Given the description of an element on the screen output the (x, y) to click on. 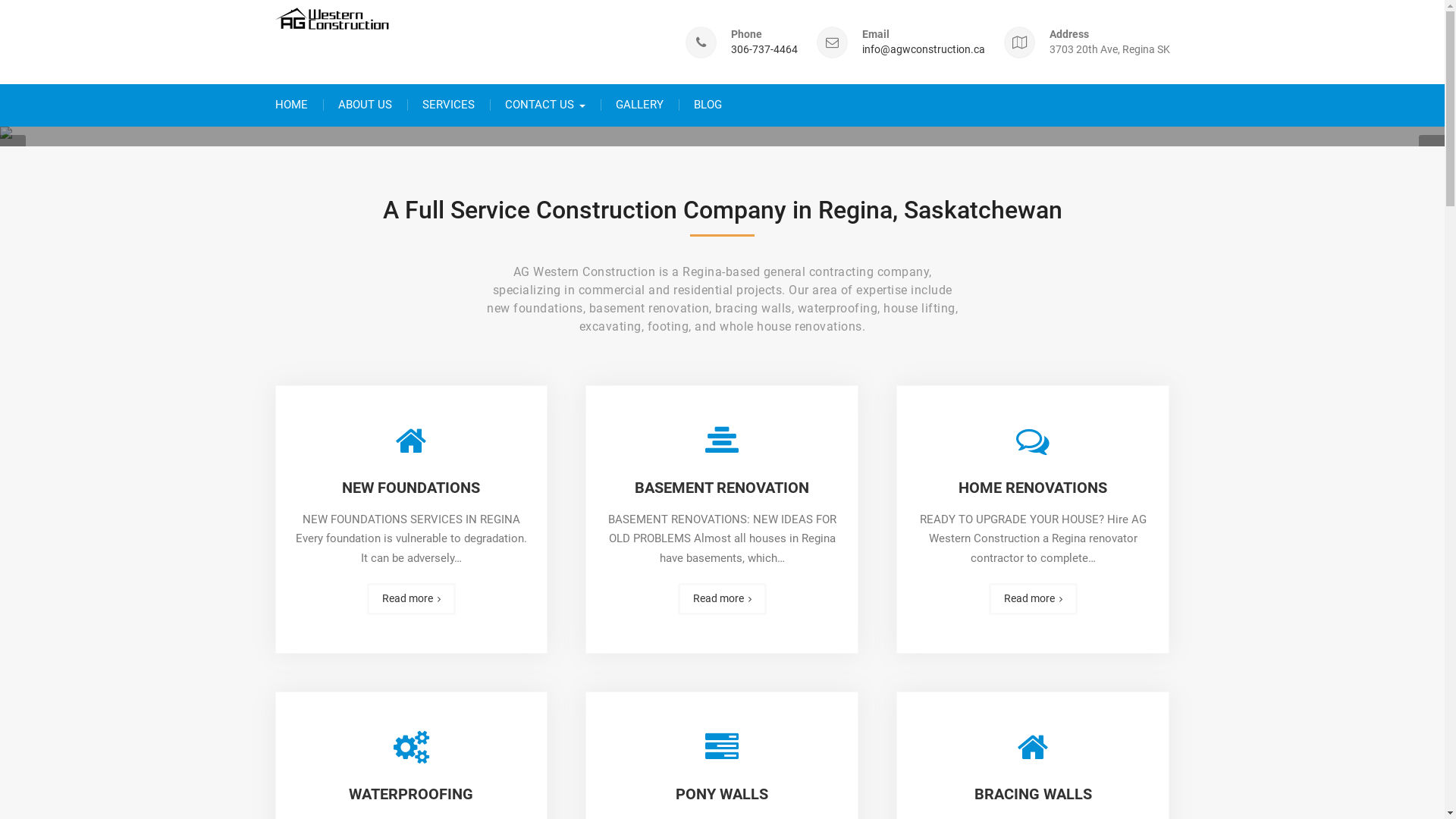
Read more Element type: text (1032, 599)
WATERPROOFING Element type: text (410, 793)
BASEMENT RENOVATION Element type: text (721, 487)
ABOUT US Element type: text (365, 105)
Read more Element type: text (721, 599)
HOME RENOVATIONS Element type: text (1032, 487)
PONY WALLS Element type: text (721, 793)
NEW FOUNDATIONS Element type: text (411, 487)
Read more Element type: text (411, 599)
BLOG Element type: text (707, 105)
CONTACT US Element type: text (545, 105)
306-737-4464 Element type: text (764, 49)
info@agwconstruction.ca Element type: text (922, 49)
BRACING WALLS Element type: text (1033, 793)
HOME Element type: text (290, 105)
GALLERY Element type: text (639, 105)
SERVICES Element type: text (447, 105)
